Given the description of an element on the screen output the (x, y) to click on. 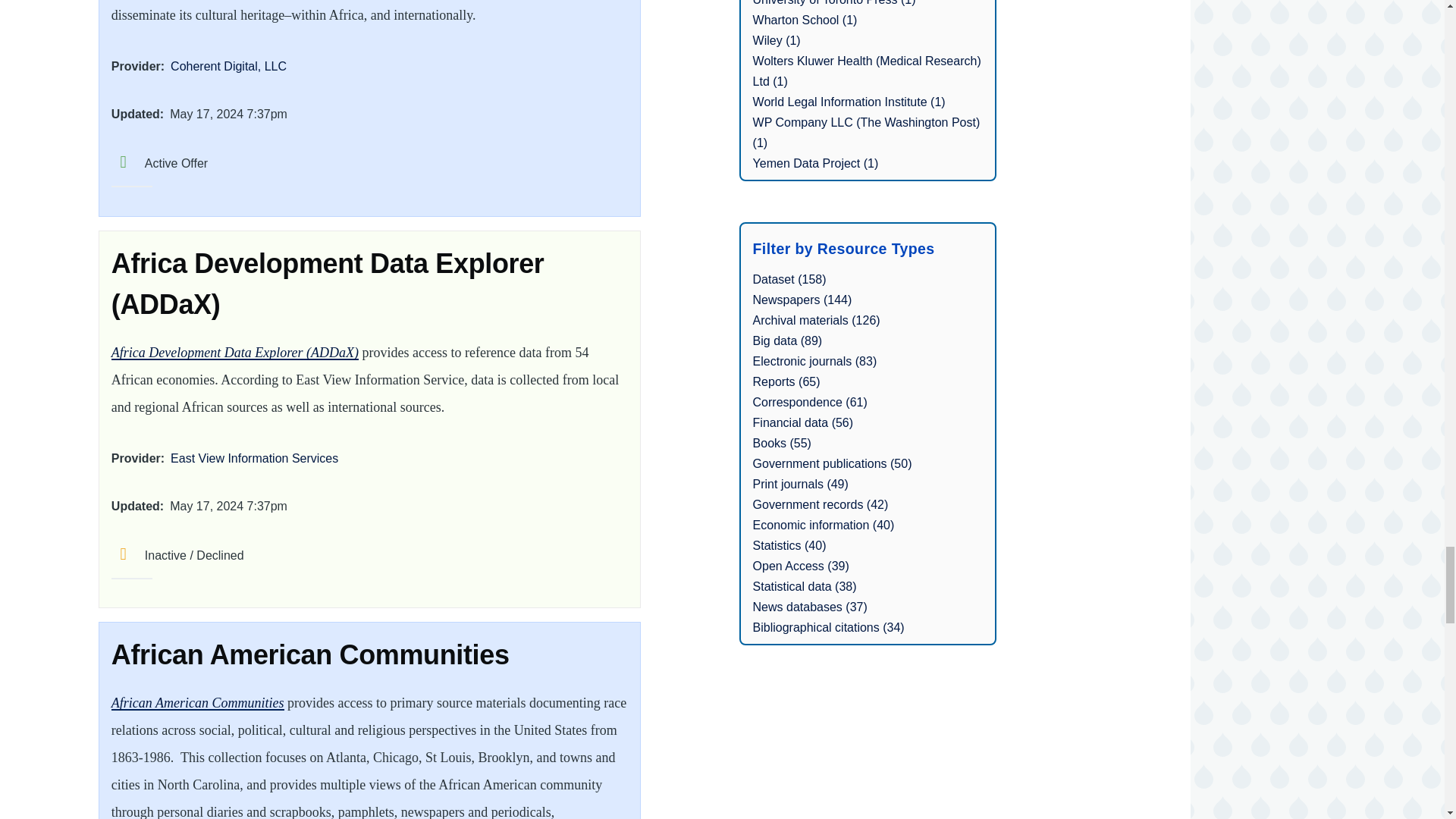
Active Offer (160, 163)
